Given the description of an element on the screen output the (x, y) to click on. 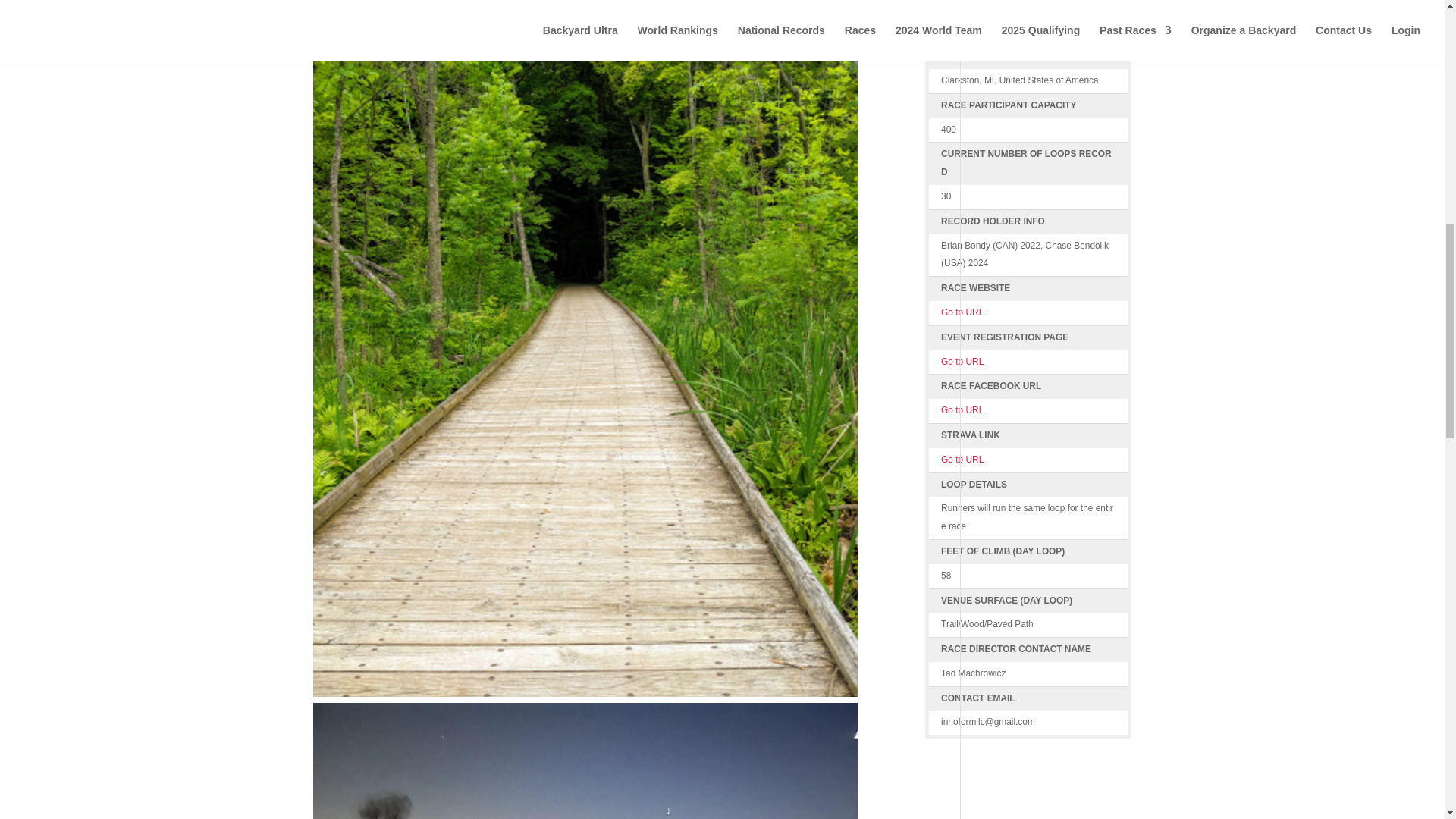
Go to URL (962, 459)
Go to URL (962, 312)
Go to URL (962, 361)
Go to URL (962, 409)
